Given the description of an element on the screen output the (x, y) to click on. 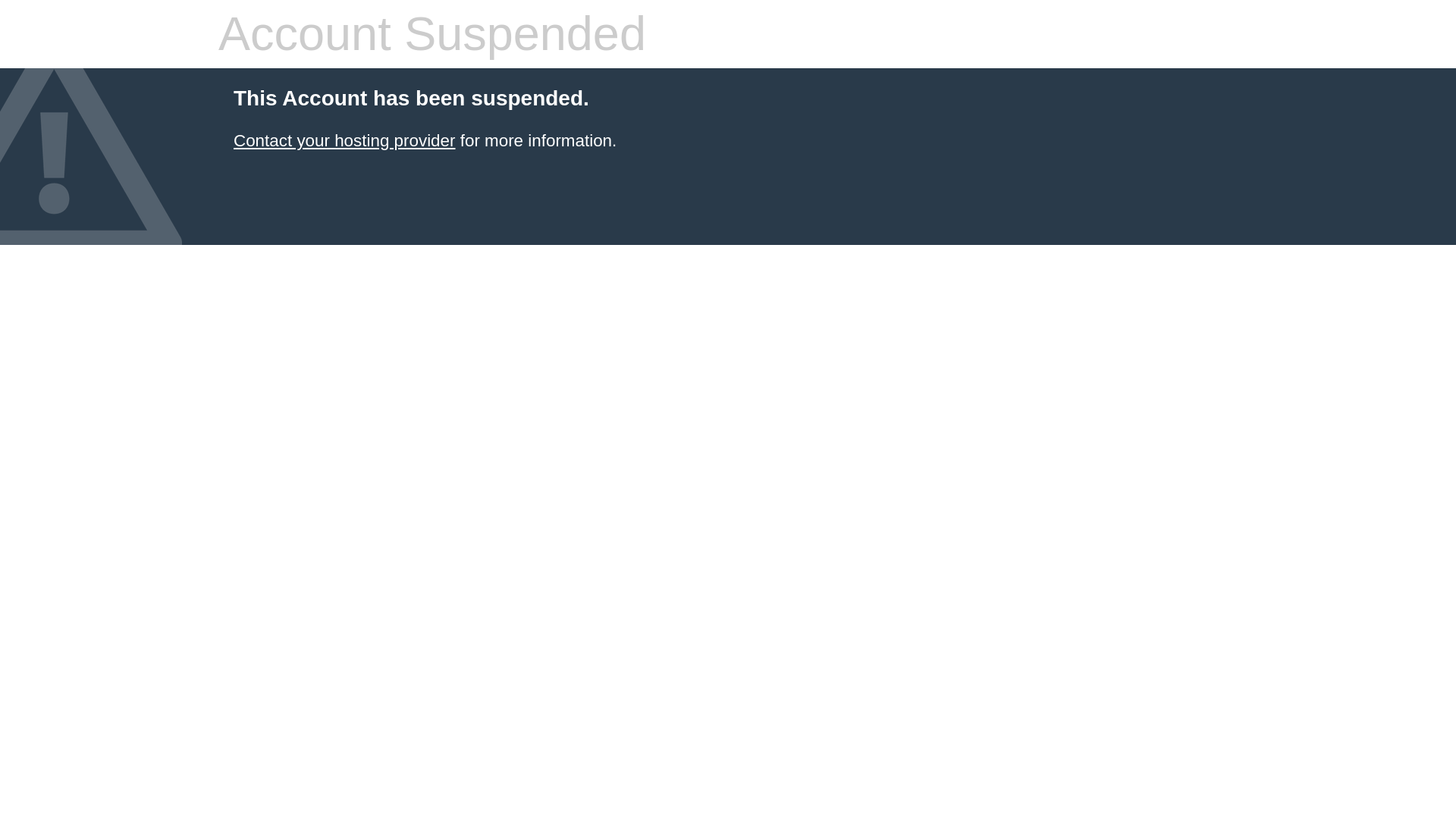
Contact your hosting provider (343, 140)
